Given the description of an element on the screen output the (x, y) to click on. 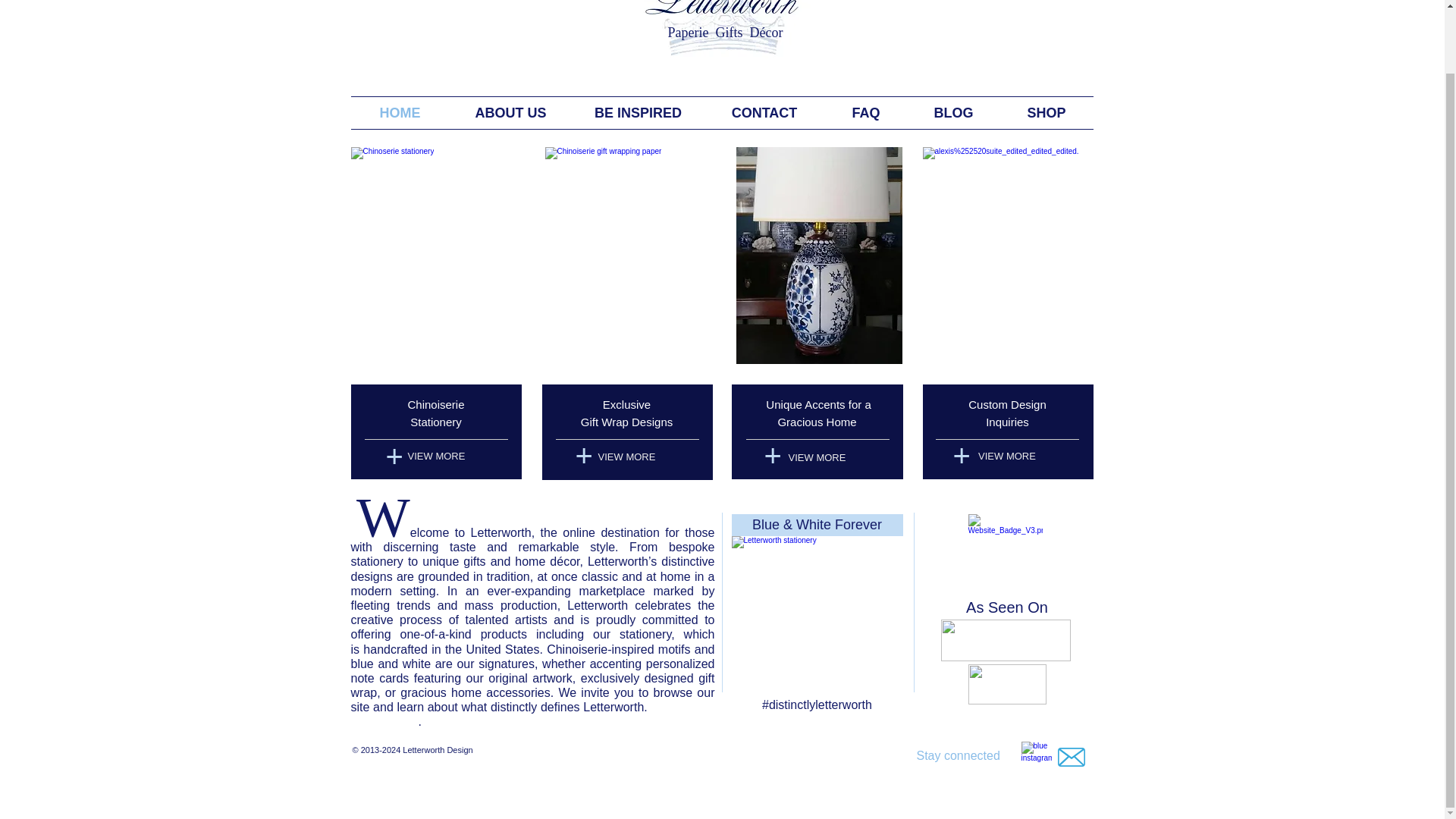
VIEW MORE (1006, 456)
BLOG (952, 112)
SHOP (1045, 112)
VIEW MORE (435, 456)
Stay connected (956, 755)
VIEW MORE (815, 458)
ABOUT US (510, 112)
BE INSPIRED (637, 112)
VIEW MORE (626, 457)
CONTACT (763, 112)
HOME (399, 112)
FAQ (866, 112)
